Given the description of an element on the screen output the (x, y) to click on. 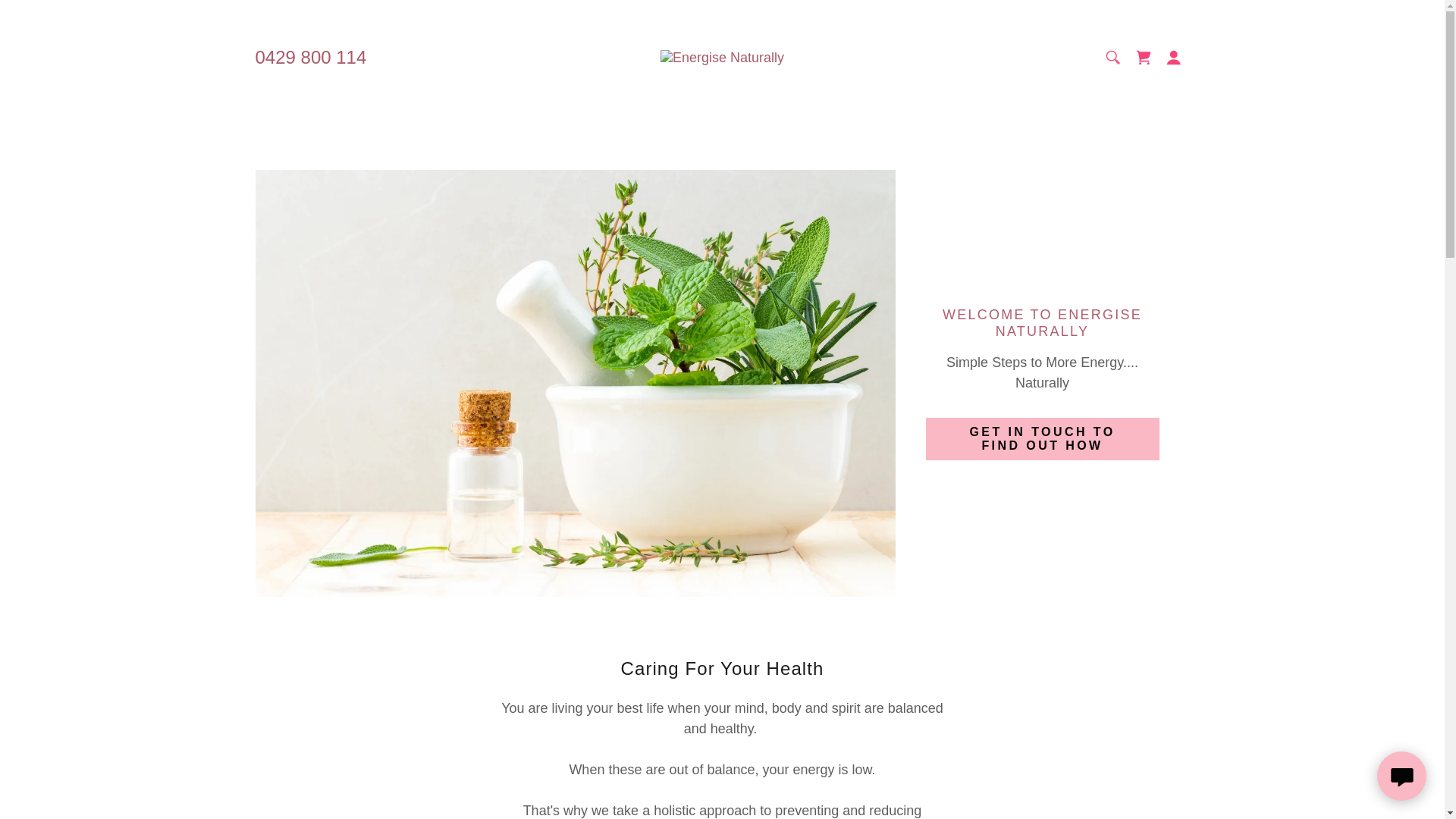
0429 800 114 Element type: text (310, 57)
Energise Naturally Element type: hover (722, 56)
GET IN TOUCH TO FIND OUT HOW Element type: text (1041, 438)
